Given the description of an element on the screen output the (x, y) to click on. 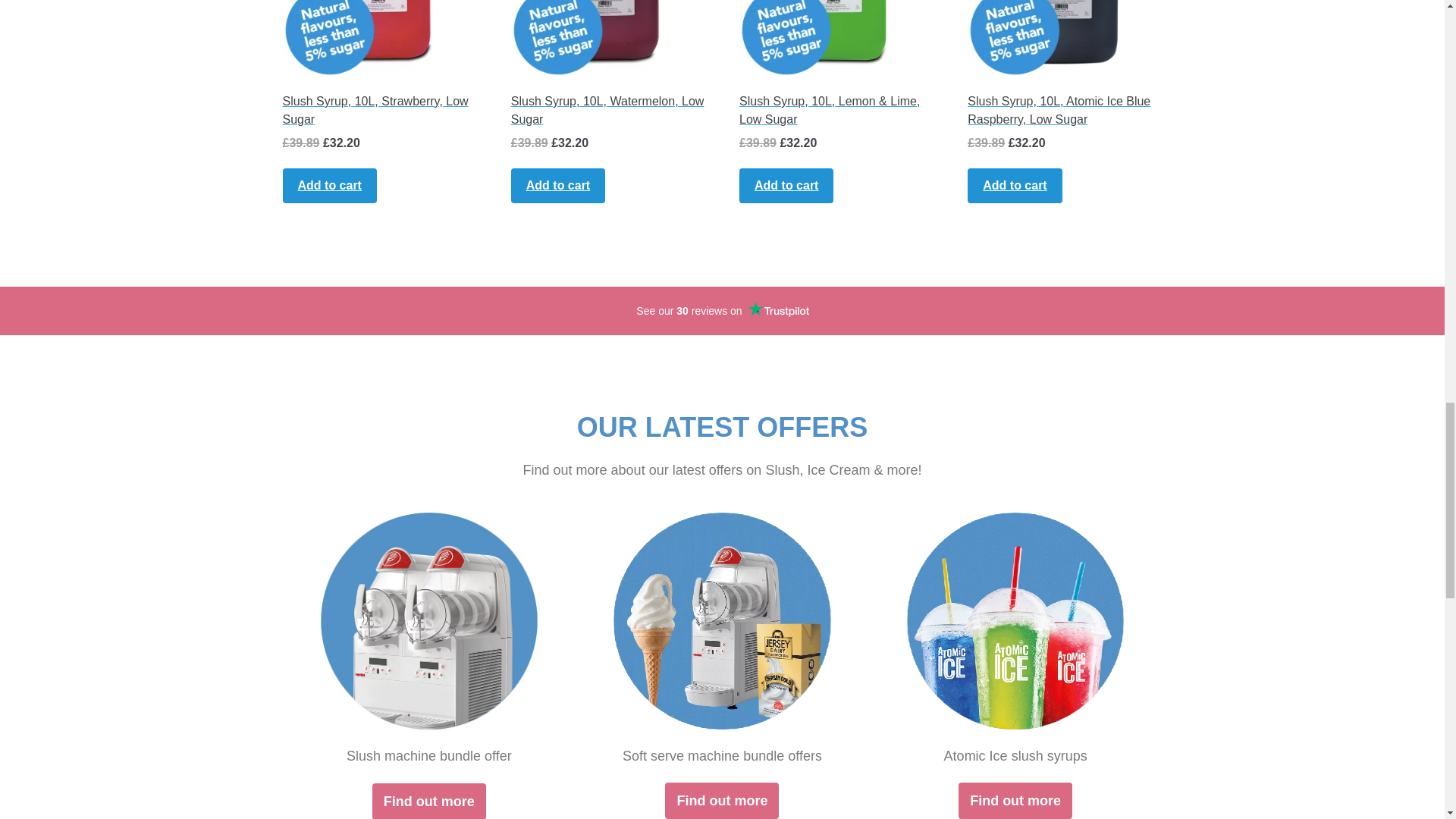
Customer reviews powered by Trustpilot (722, 311)
